Given the description of an element on the screen output the (x, y) to click on. 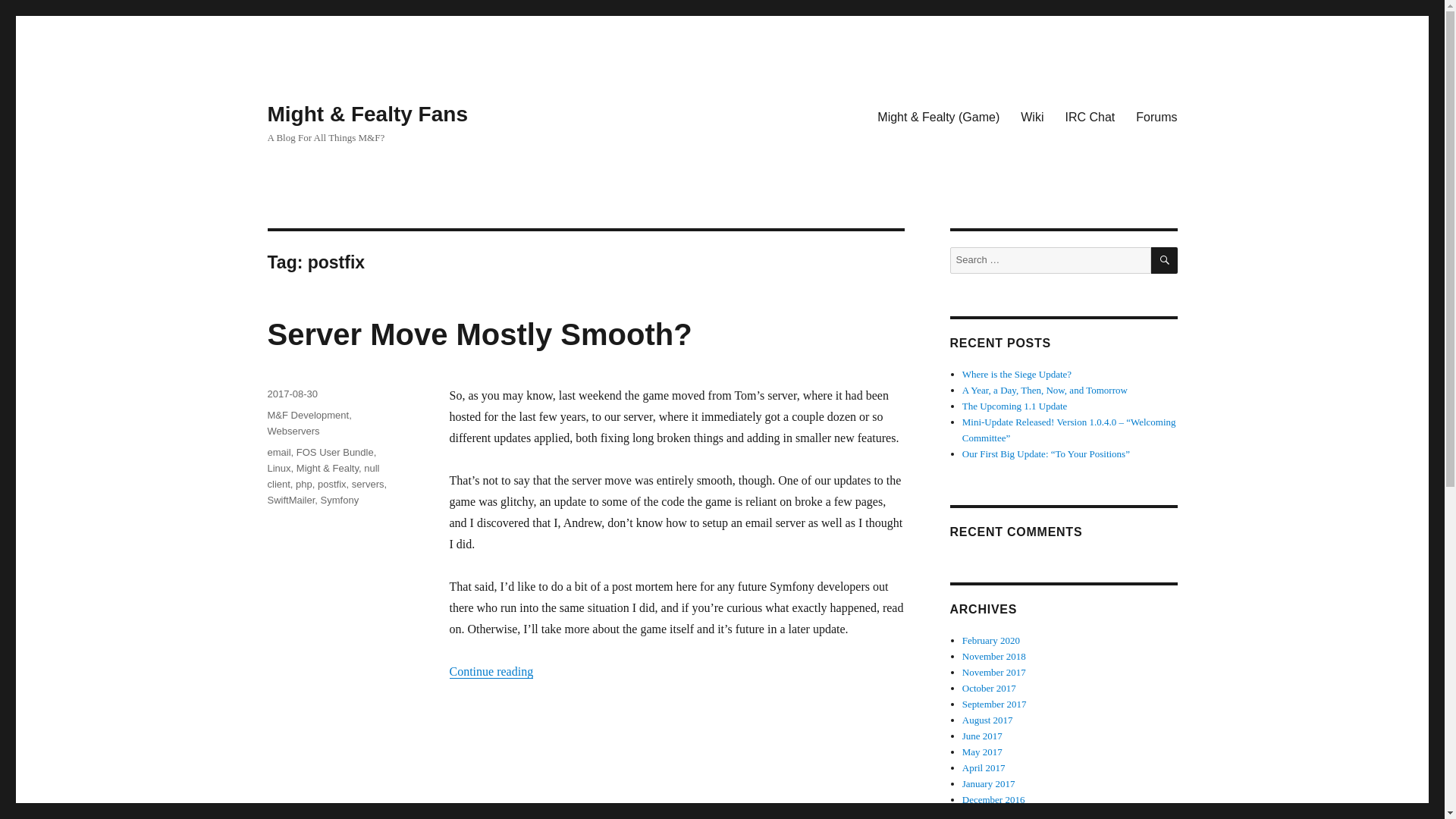
servers (368, 483)
FOS User Bundle (335, 451)
November 2017 (994, 672)
Server Move Mostly Smooth? (478, 334)
November 2018 (994, 655)
null client (322, 475)
Wiki (1032, 116)
January 2017 (988, 783)
The Upcoming 1.1 Update (1014, 405)
2017-08-30 (291, 393)
